Given the description of an element on the screen output the (x, y) to click on. 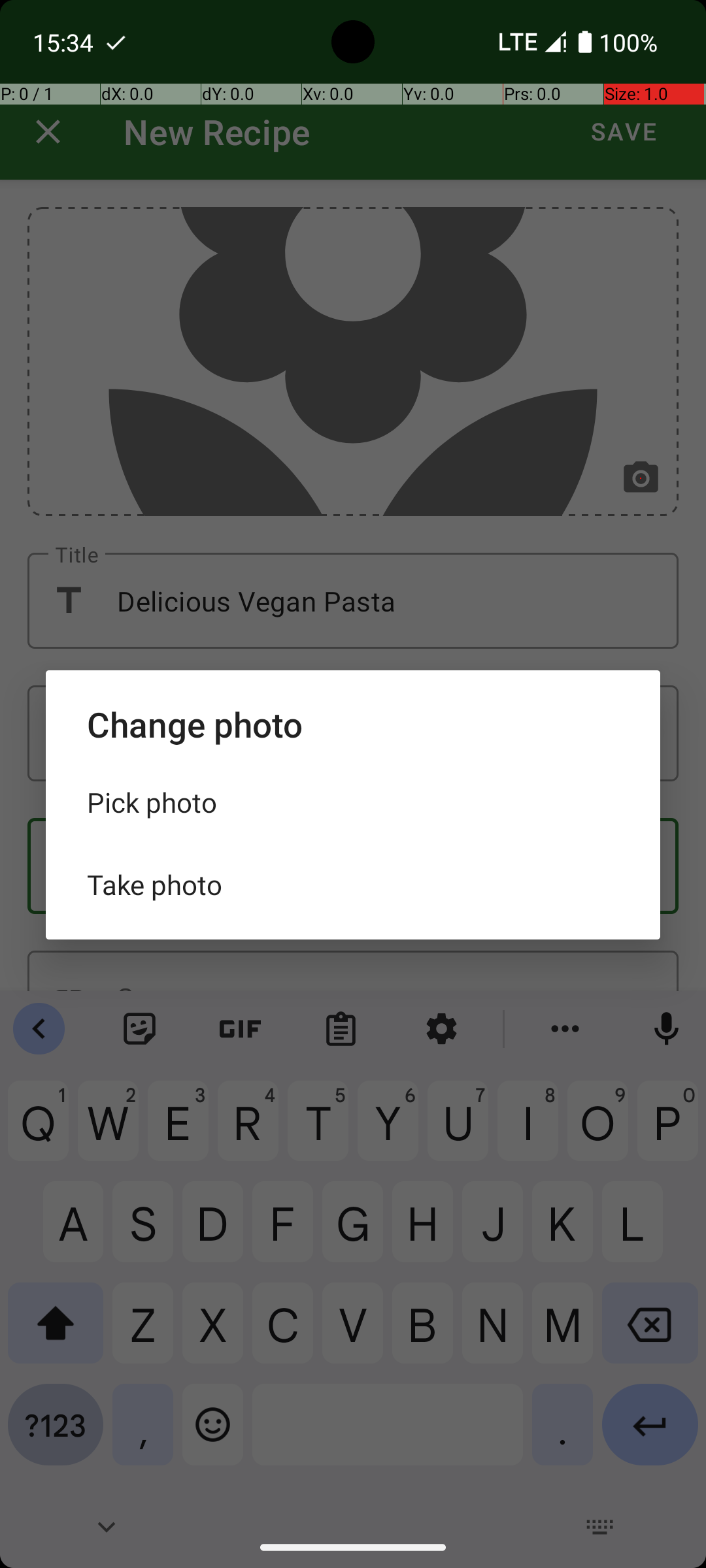
Pick photo Element type: android.widget.TextView (352, 802)
